Given the description of an element on the screen output the (x, y) to click on. 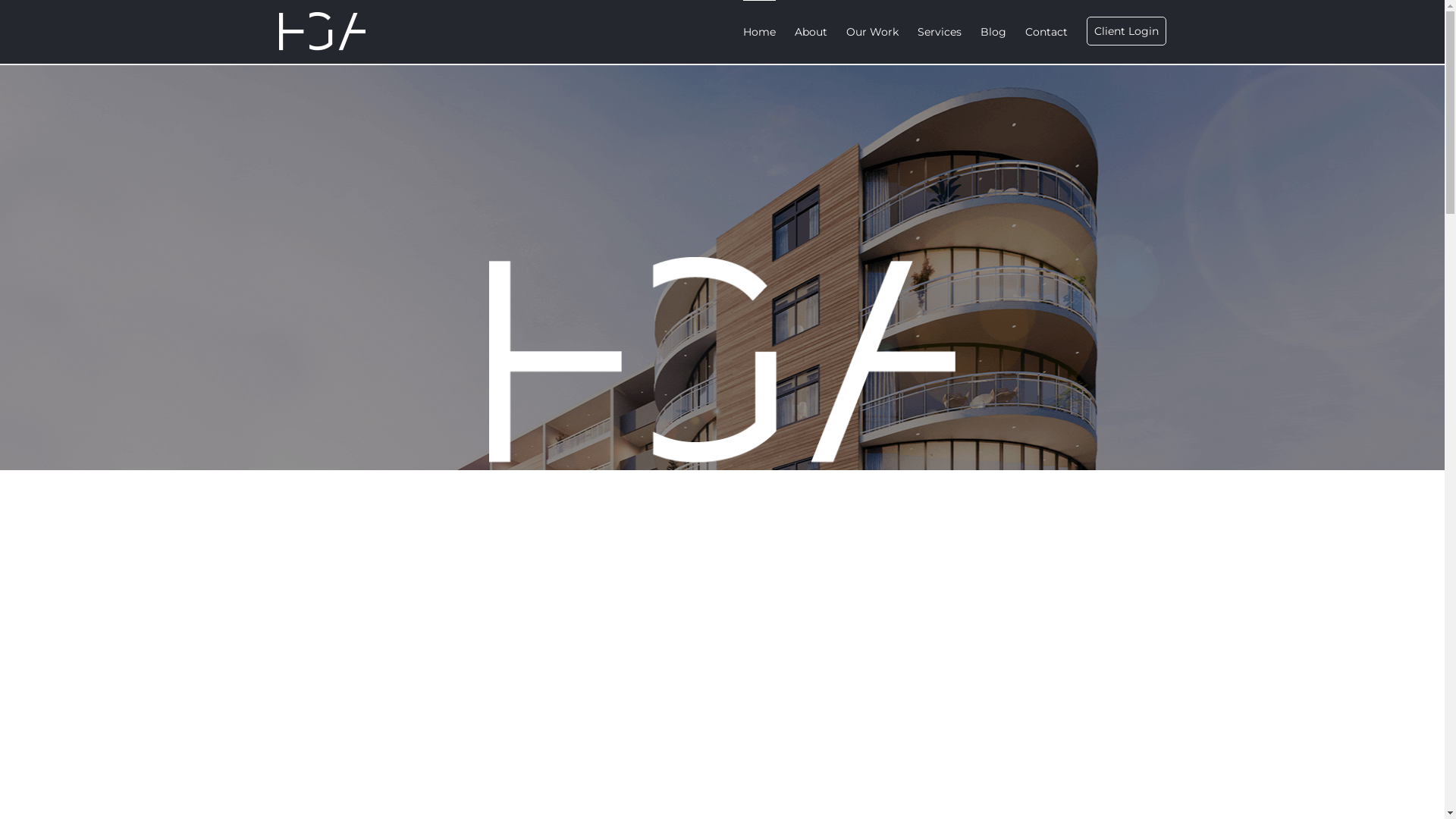
About Element type: text (810, 31)
Client Login Element type: text (1125, 31)
Services Element type: text (939, 31)
Home Element type: text (759, 31)
Blog Element type: text (992, 31)
Our Work Element type: text (872, 31)
SEE OUR WORK Element type: text (722, 605)
Contact Element type: text (1046, 31)
